Given the description of an element on the screen output the (x, y) to click on. 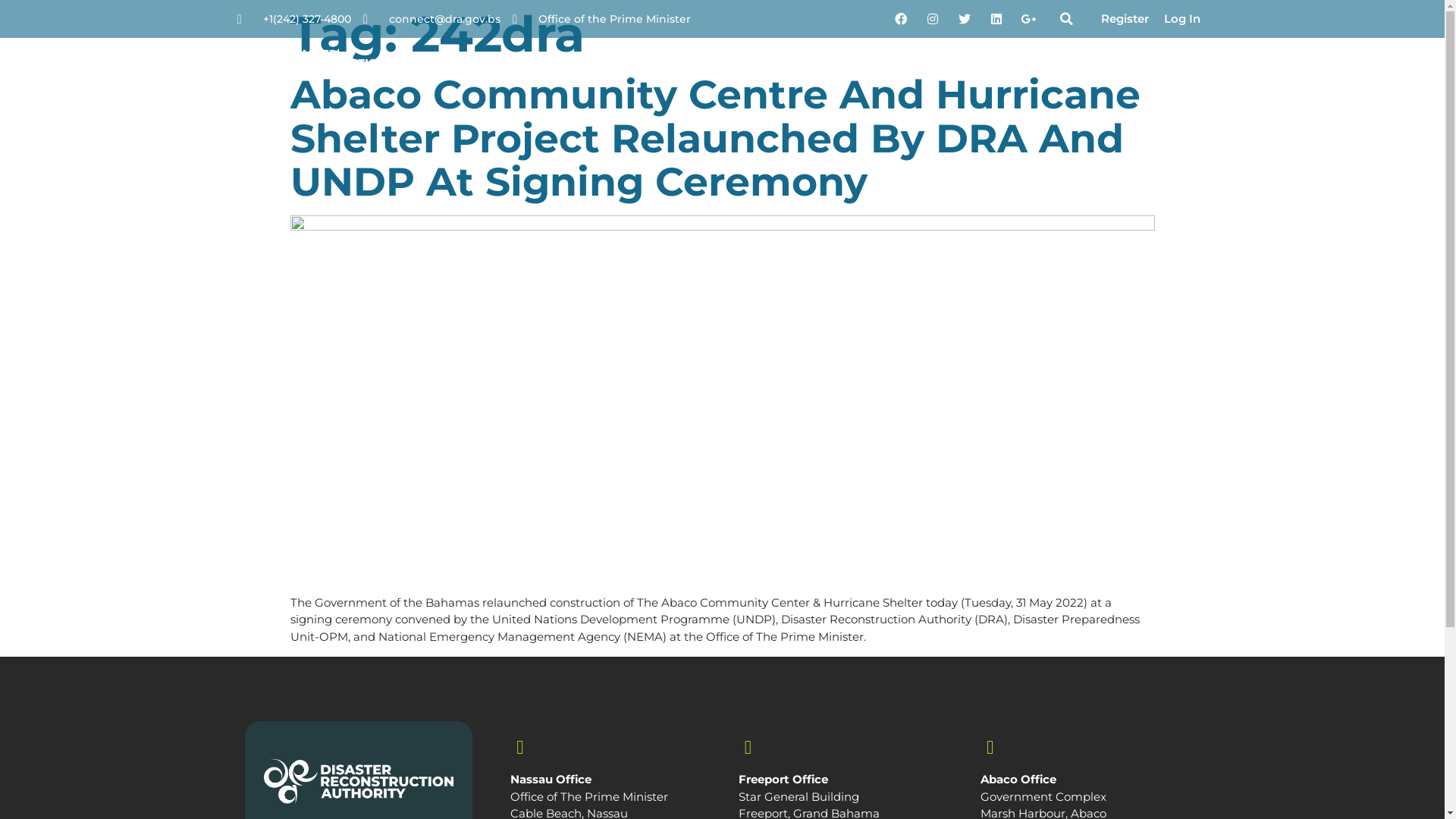
CONTACT US Element type: text (1161, 63)
FAQS Element type: text (1082, 63)
NEWSROOM Element type: text (1003, 63)
+1(242) 327-4800 Element type: text (293, 19)
Register Element type: text (1124, 19)
HOW WE HELP Element type: text (895, 63)
Log In Element type: text (1181, 19)
WHO WE ARE Element type: text (785, 63)
connect@dra.gov.bs Element type: text (431, 19)
Office of the Prime Minister Element type: text (601, 19)
